Given the description of an element on the screen output the (x, y) to click on. 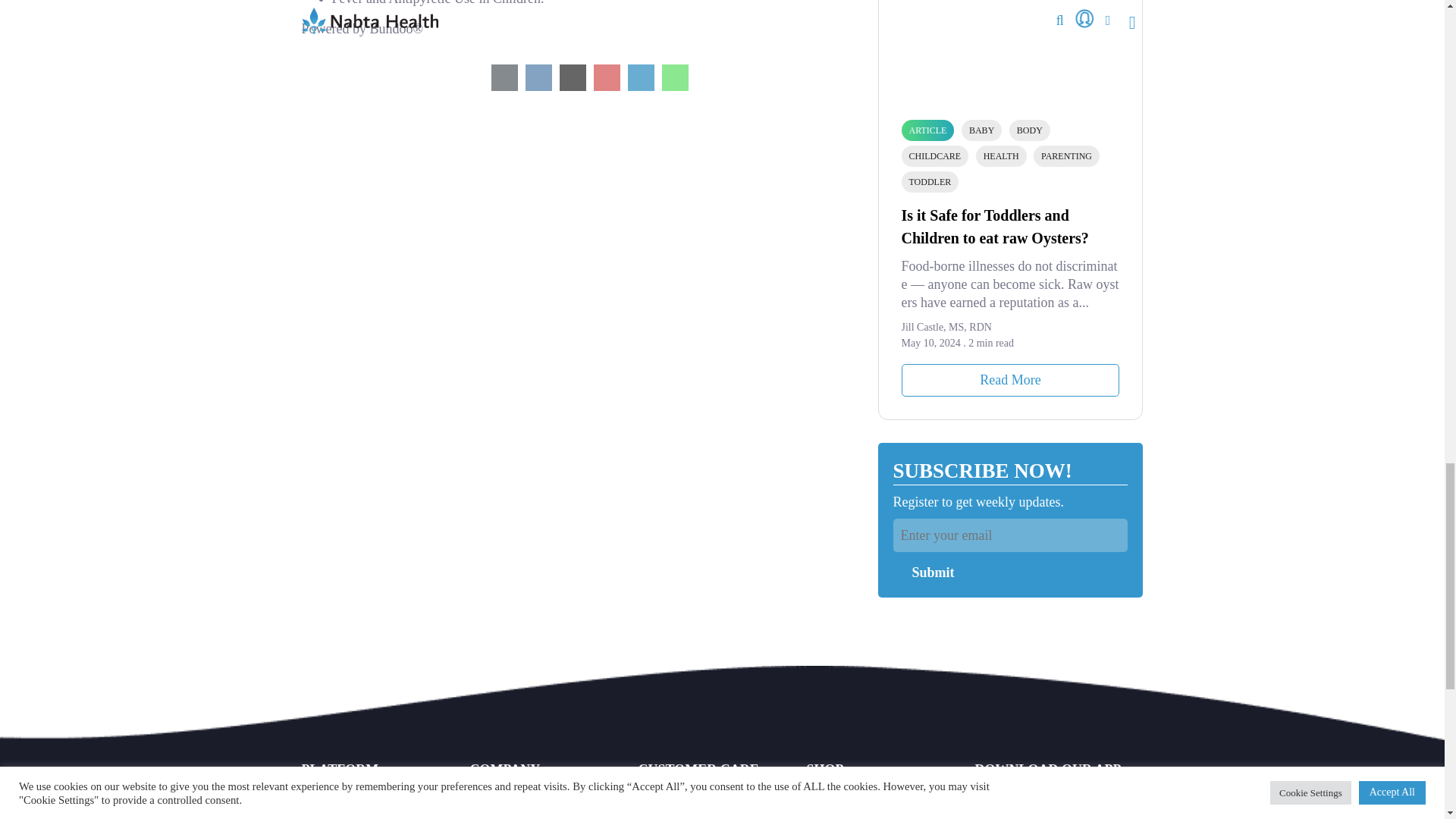
Submit (928, 572)
